Given the description of an element on the screen output the (x, y) to click on. 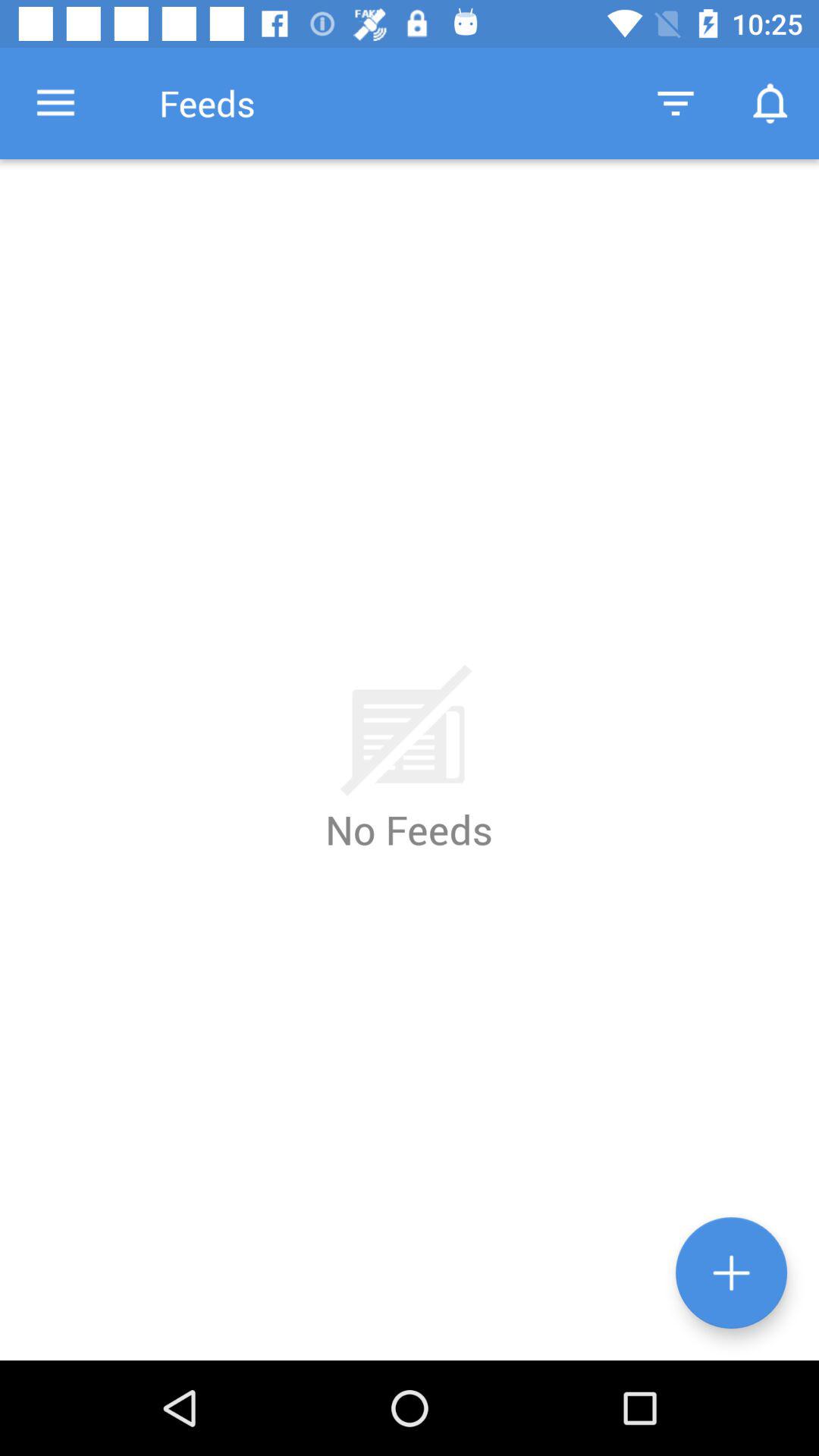
launch the icon next to the feeds item (675, 103)
